Given the description of an element on the screen output the (x, y) to click on. 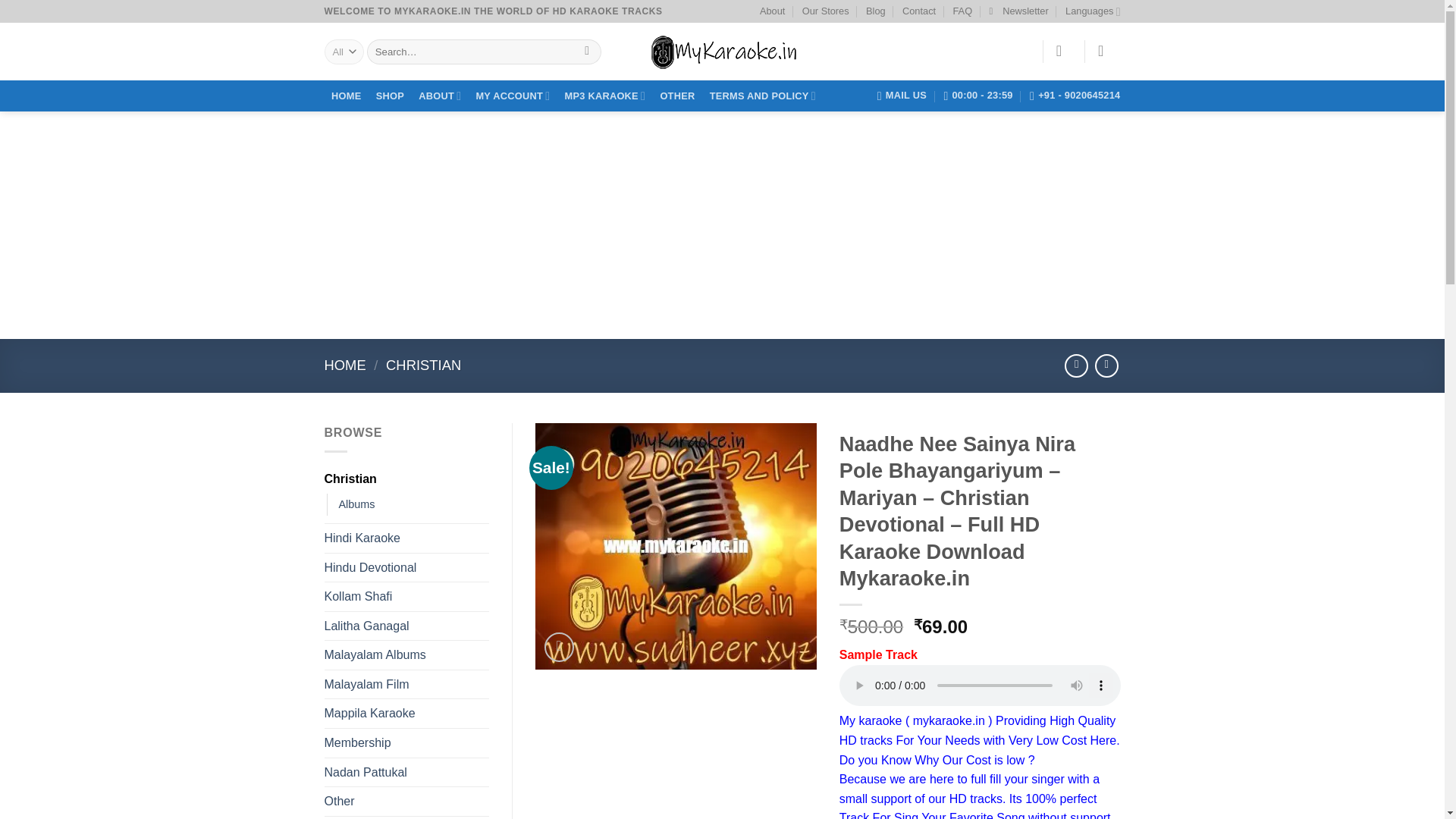
ABOUT (440, 96)
Zoom (558, 646)
MP3 KARAOKE (604, 96)
karaoke-4-113.jpg (675, 546)
Newsletter (1018, 11)
Sign up for Newsletter (1018, 11)
HOME (346, 96)
Contact (919, 11)
About (772, 11)
MY ACCOUNT (512, 96)
SHOP (389, 96)
Languages (1092, 11)
Cart (1104, 50)
Search (587, 52)
